Given the description of an element on the screen output the (x, y) to click on. 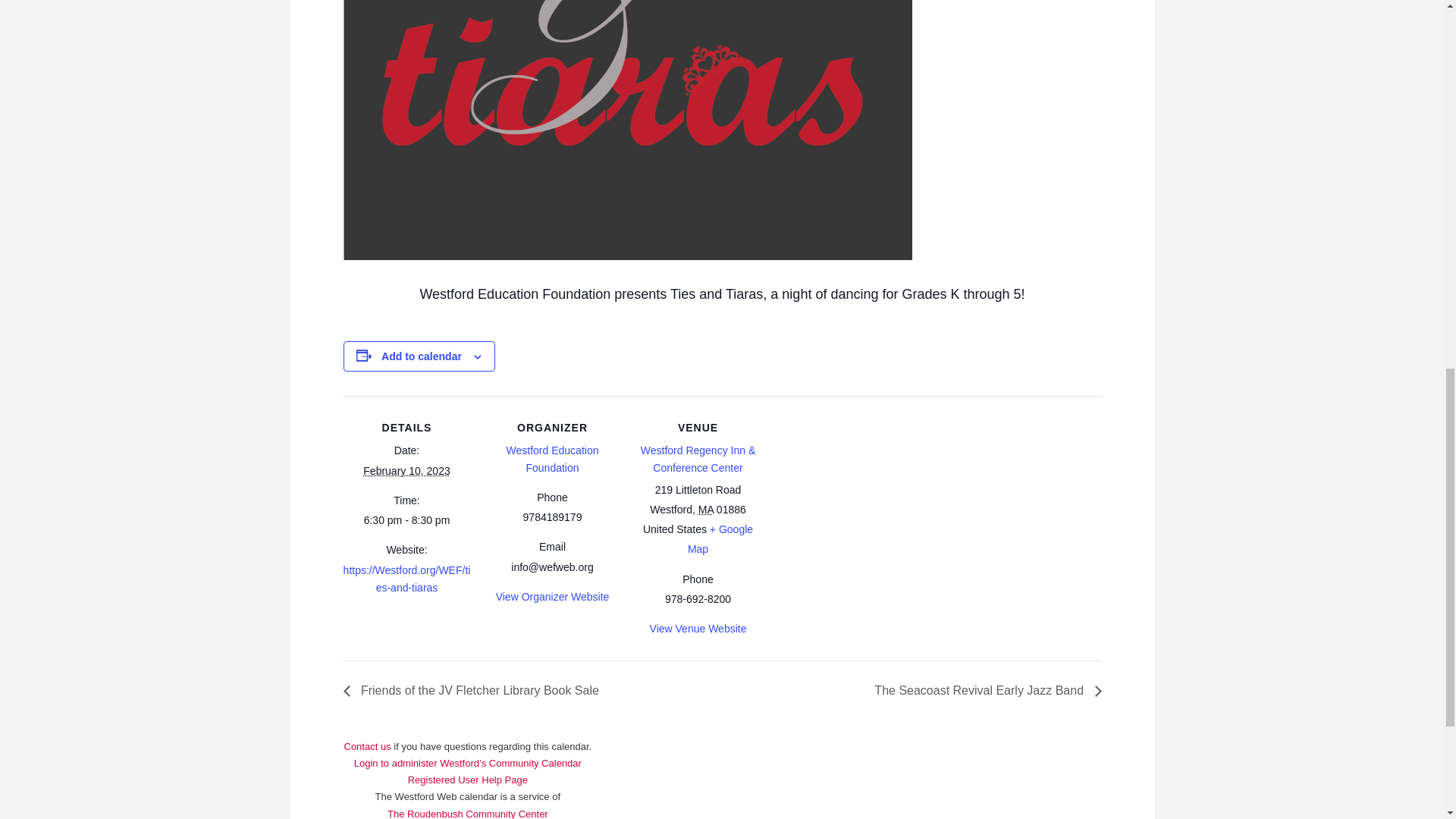
The Seacoast Revival Early Jazz Band (983, 689)
The Roudenbush Community Center (467, 813)
View Venue Website (697, 628)
Massachusetts (705, 509)
View Organizer Website (553, 596)
2023-02-10 (406, 520)
Add to calendar (421, 356)
2023-02-10 (405, 470)
Click to view a Google Map (719, 539)
Contact us (405, 755)
Friends of the JV Fletcher Library Book Sale (474, 689)
Westford Education Foundation (552, 459)
Westford Education Foundation (552, 459)
Registered User Help Page (467, 779)
